Given the description of an element on the screen output the (x, y) to click on. 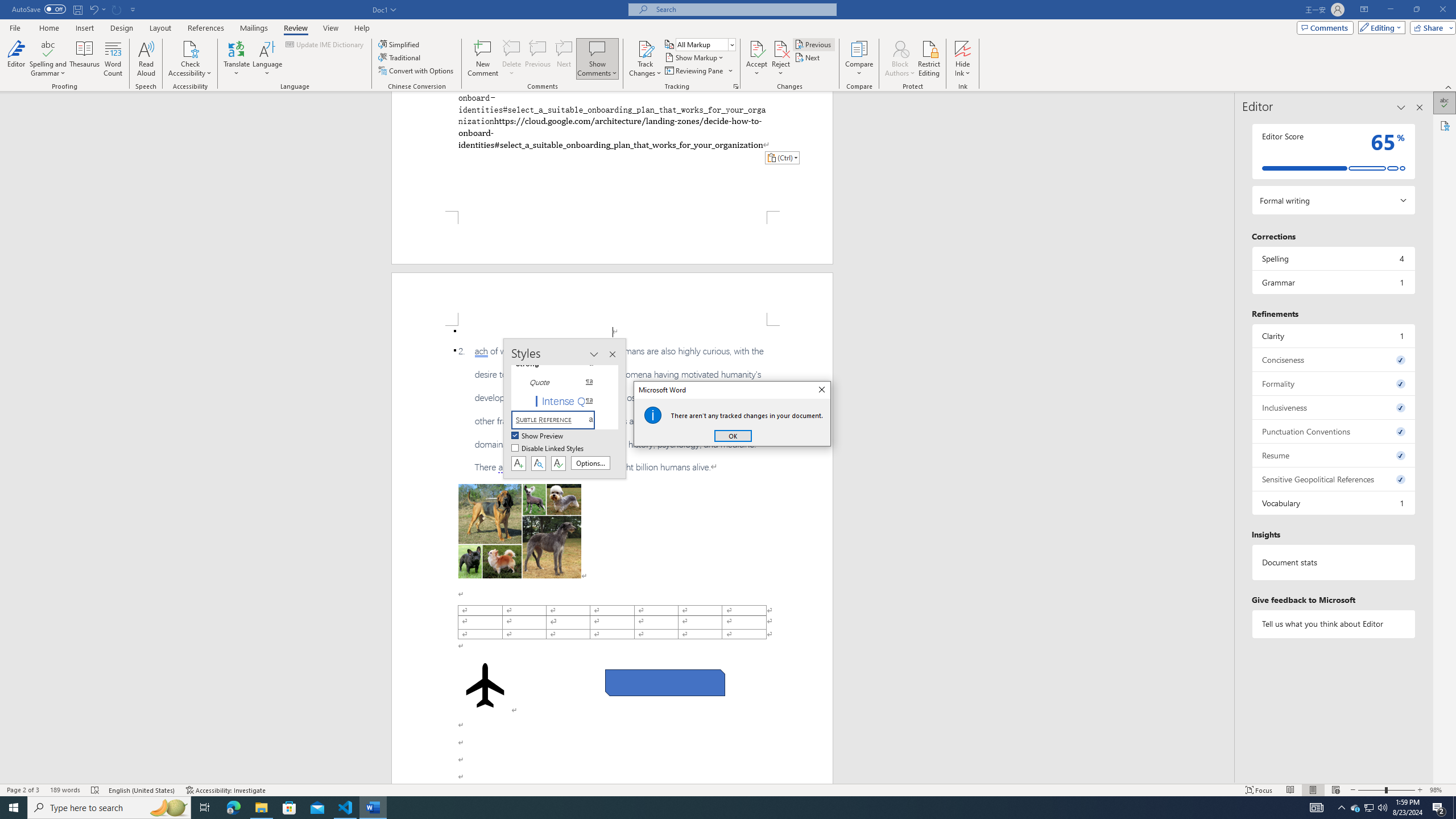
Language (267, 58)
Rectangle: Diagonal Corners Snipped 2 (665, 682)
Quote (559, 382)
Type here to search (108, 807)
